Given the description of an element on the screen output the (x, y) to click on. 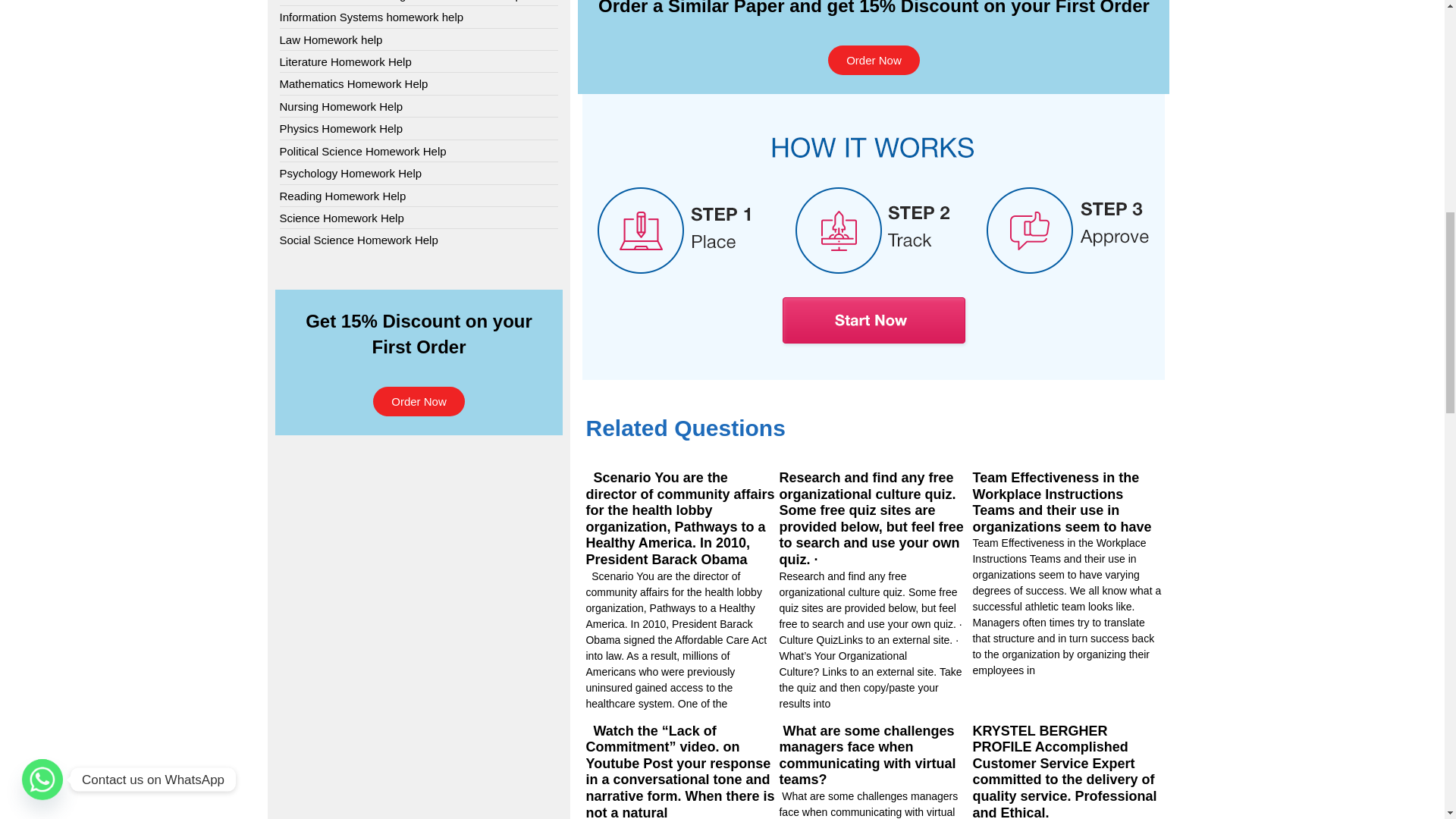
Human Resource Management Homework Help (400, 1)
Literature Homework Help (344, 61)
Mathematics Homework Help (353, 83)
Law Homework help (330, 39)
Information Systems homework help (371, 17)
